Given the description of an element on the screen output the (x, y) to click on. 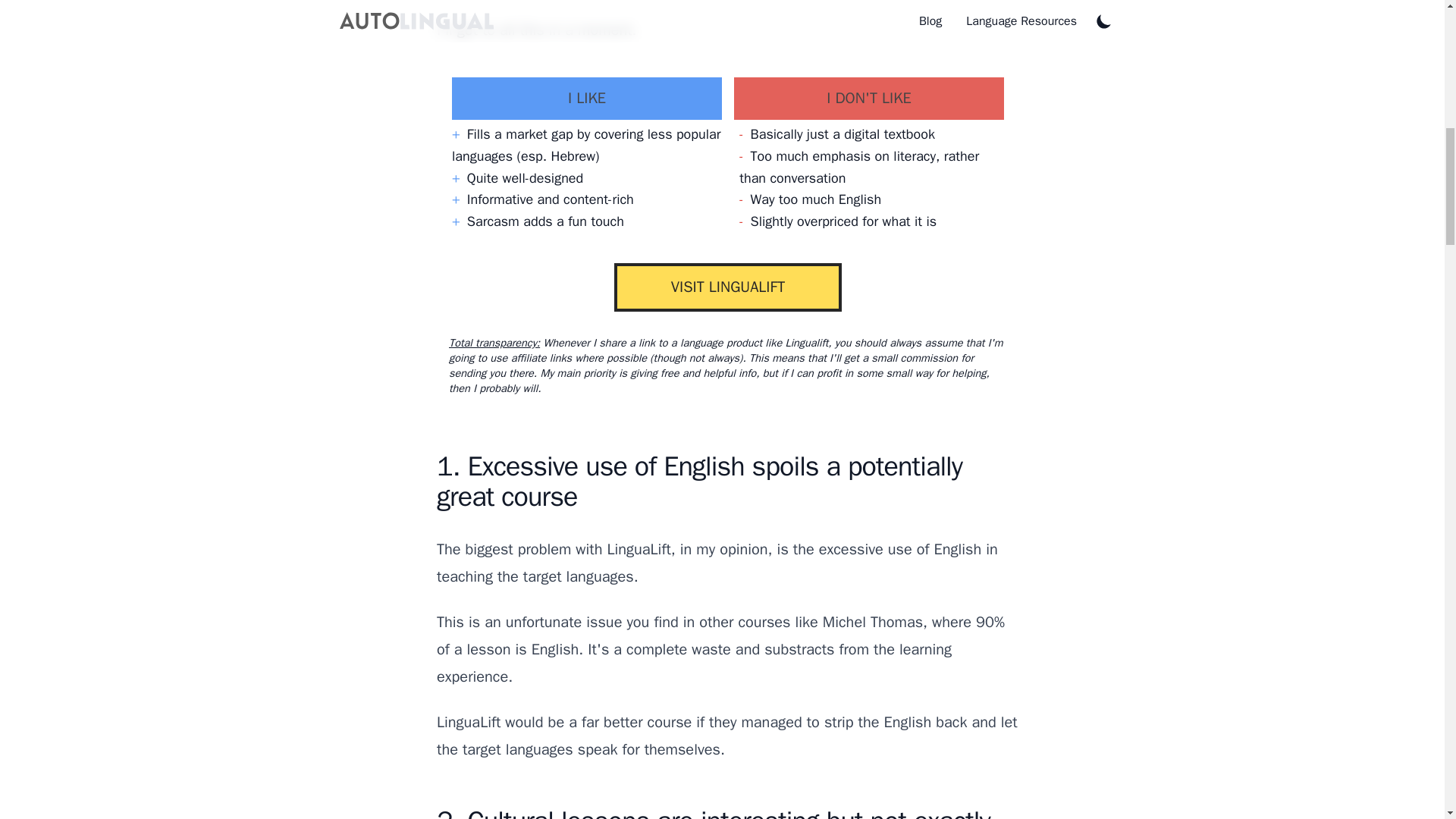
VISIT LINGUALIFT (727, 287)
